Given the description of an element on the screen output the (x, y) to click on. 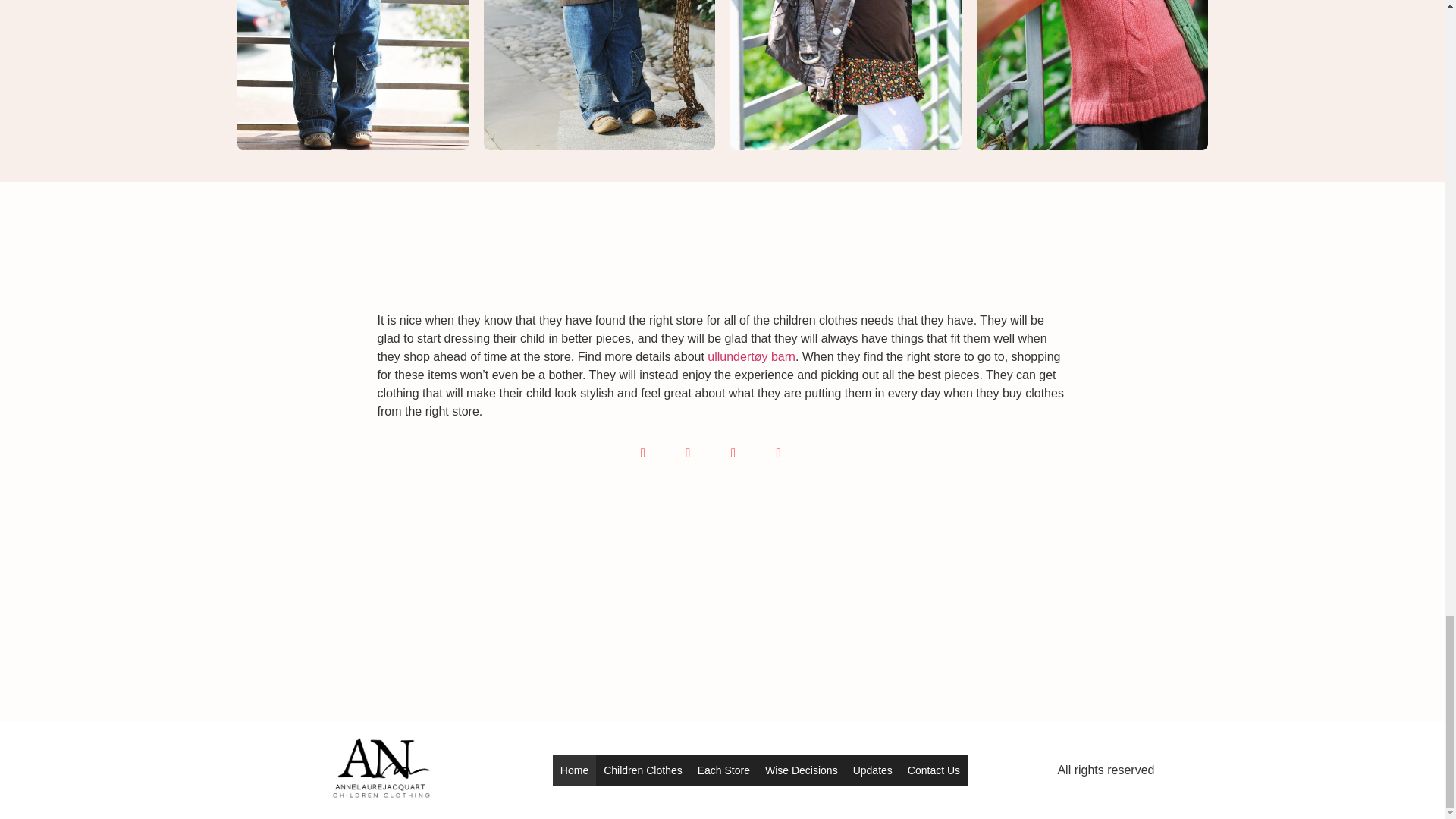
Contact Us (933, 770)
Children Clothes (642, 770)
Each Store (723, 770)
Home (574, 770)
Updates (872, 770)
Wise Decisions (801, 770)
